Given the description of an element on the screen output the (x, y) to click on. 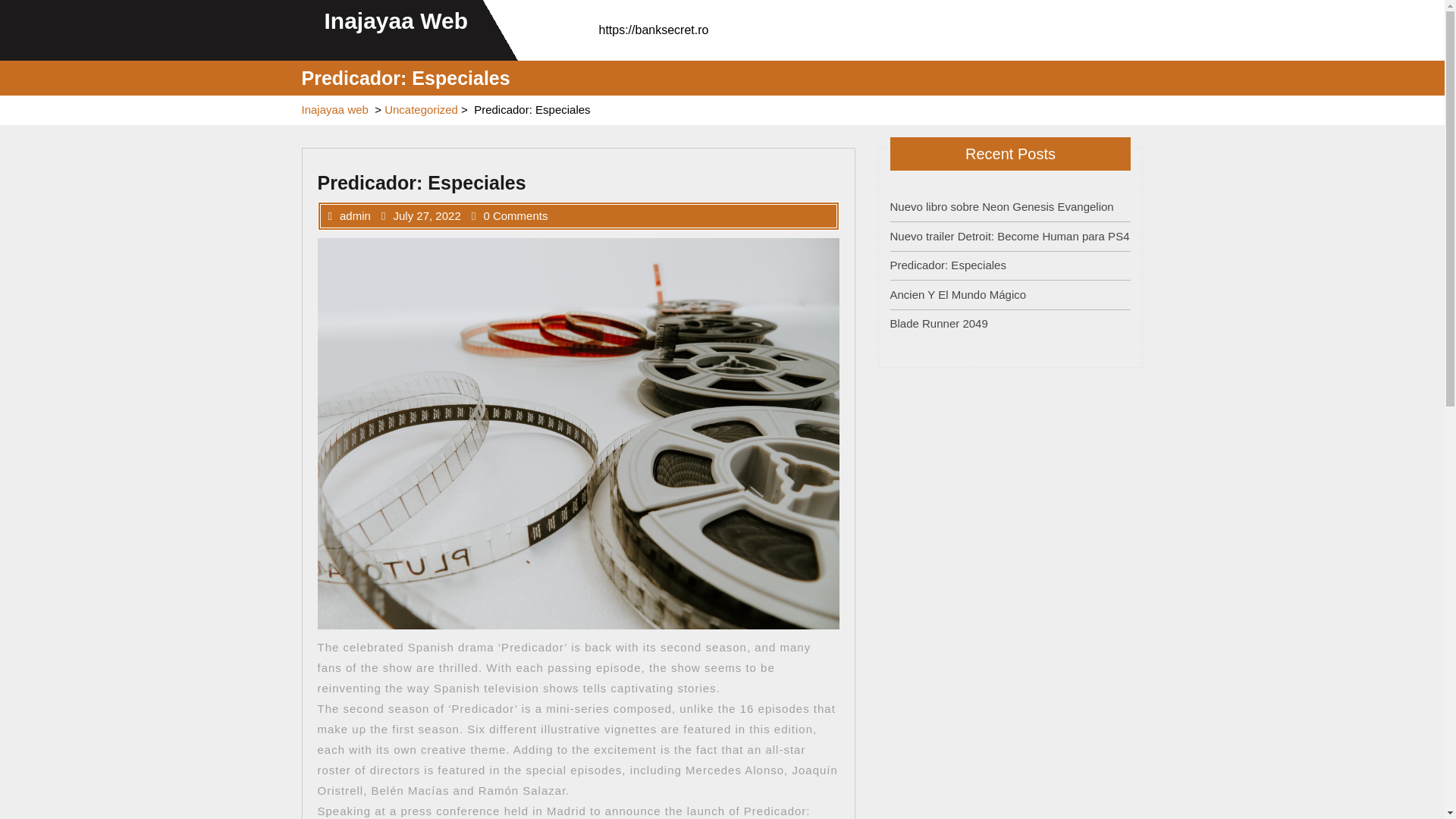
Predicador: Especiales (947, 264)
Nuevo trailer Detroit: Become Human para PS4 (1009, 235)
Nuevo libro sobre Neon Genesis Evangelion (1001, 205)
Blade Runner 2049 (938, 323)
Inajayaa Web (396, 20)
Inajayaa web (334, 109)
Uncategorized (421, 109)
